Given the description of an element on the screen output the (x, y) to click on. 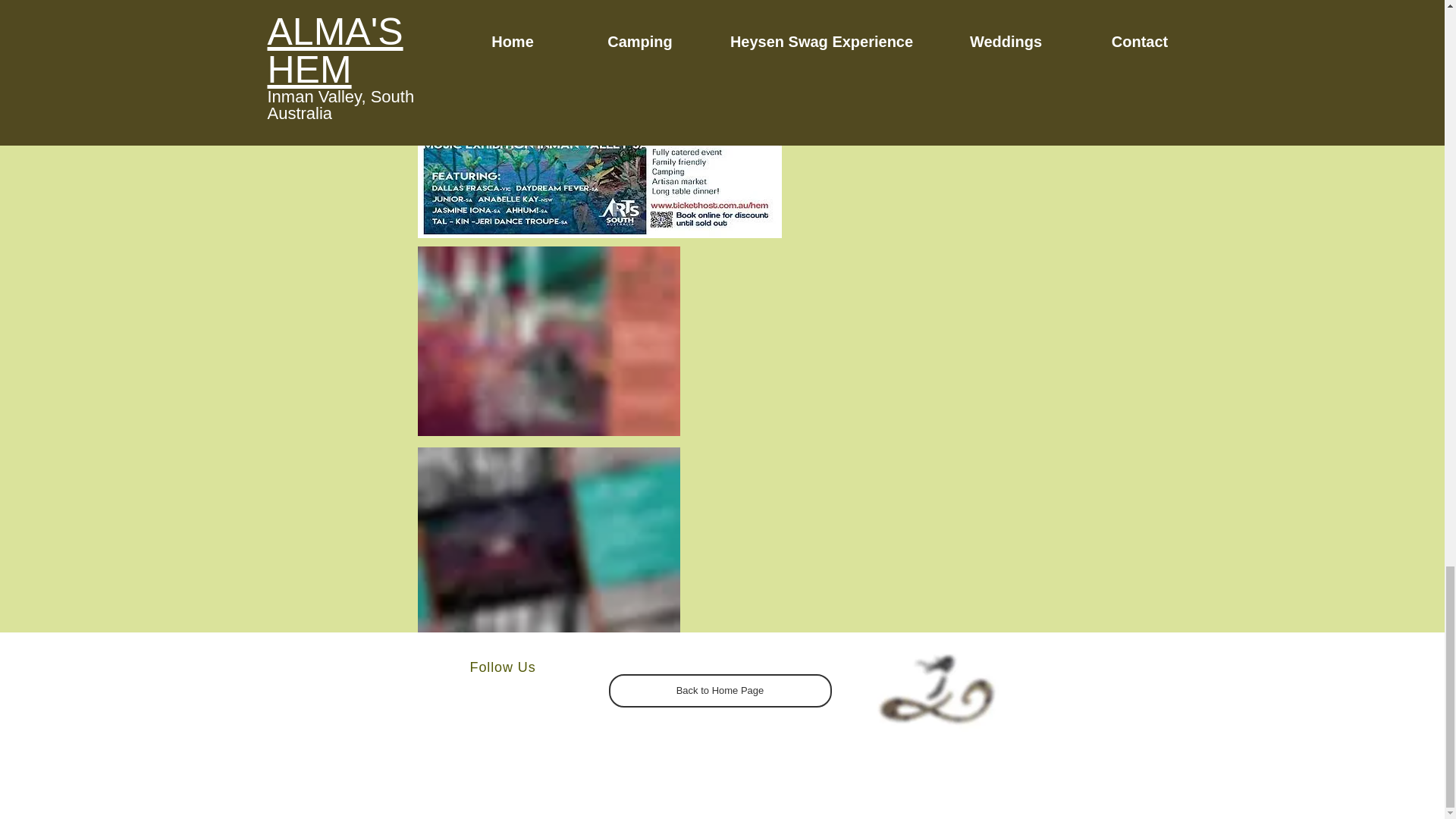
Back to Home Page (719, 690)
